Given the description of an element on the screen output the (x, y) to click on. 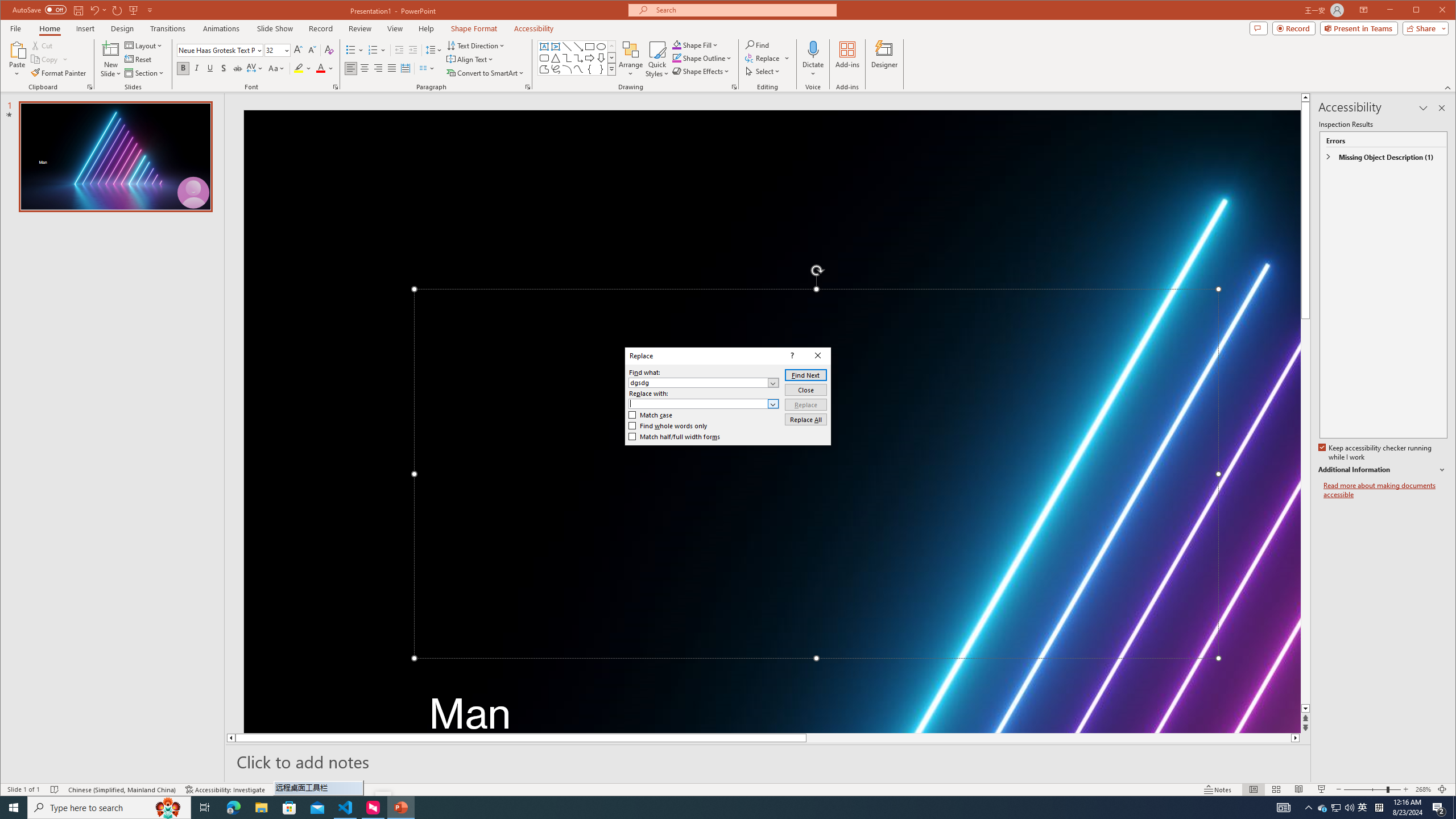
Find what (703, 382)
Replace with (697, 403)
Replace All (805, 418)
